Given the description of an element on the screen output the (x, y) to click on. 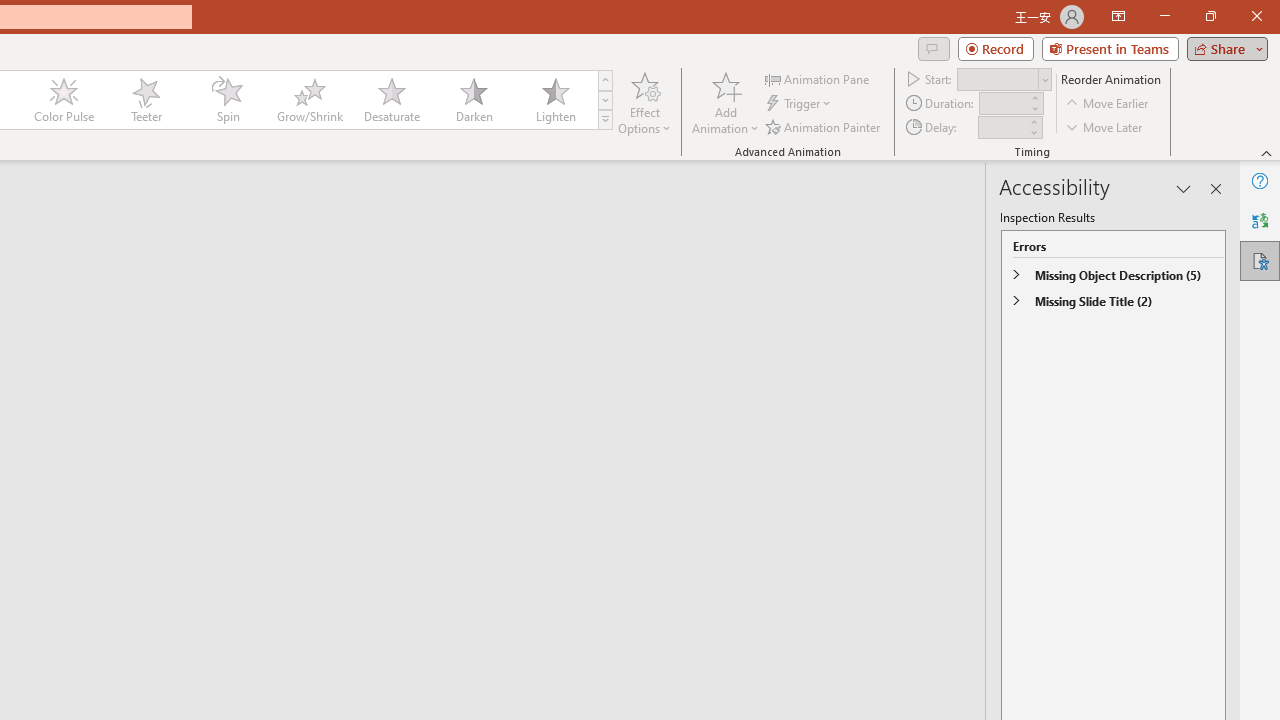
Animation Delay (1002, 127)
Desaturate (391, 100)
